Given the description of an element on the screen output the (x, y) to click on. 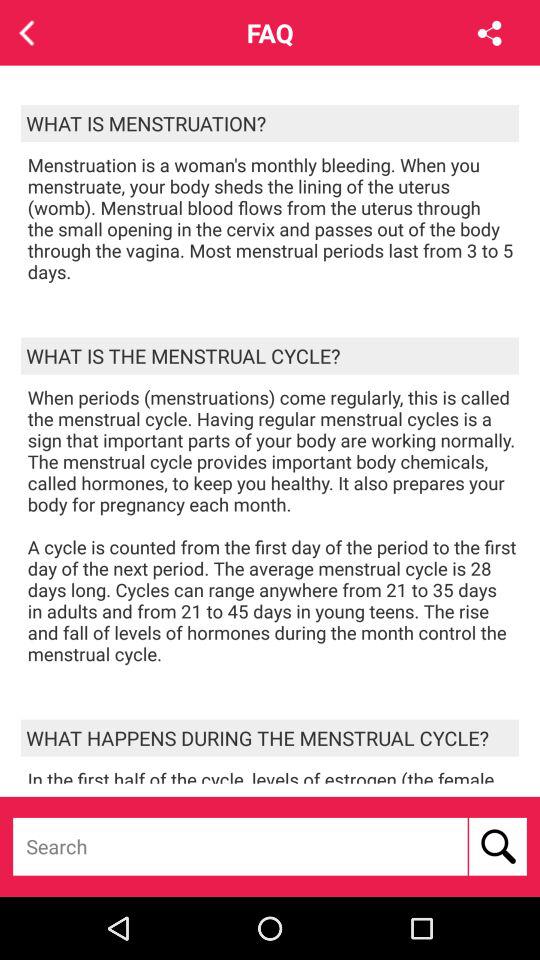
open the item below the what happens during item (273, 775)
